Given the description of an element on the screen output the (x, y) to click on. 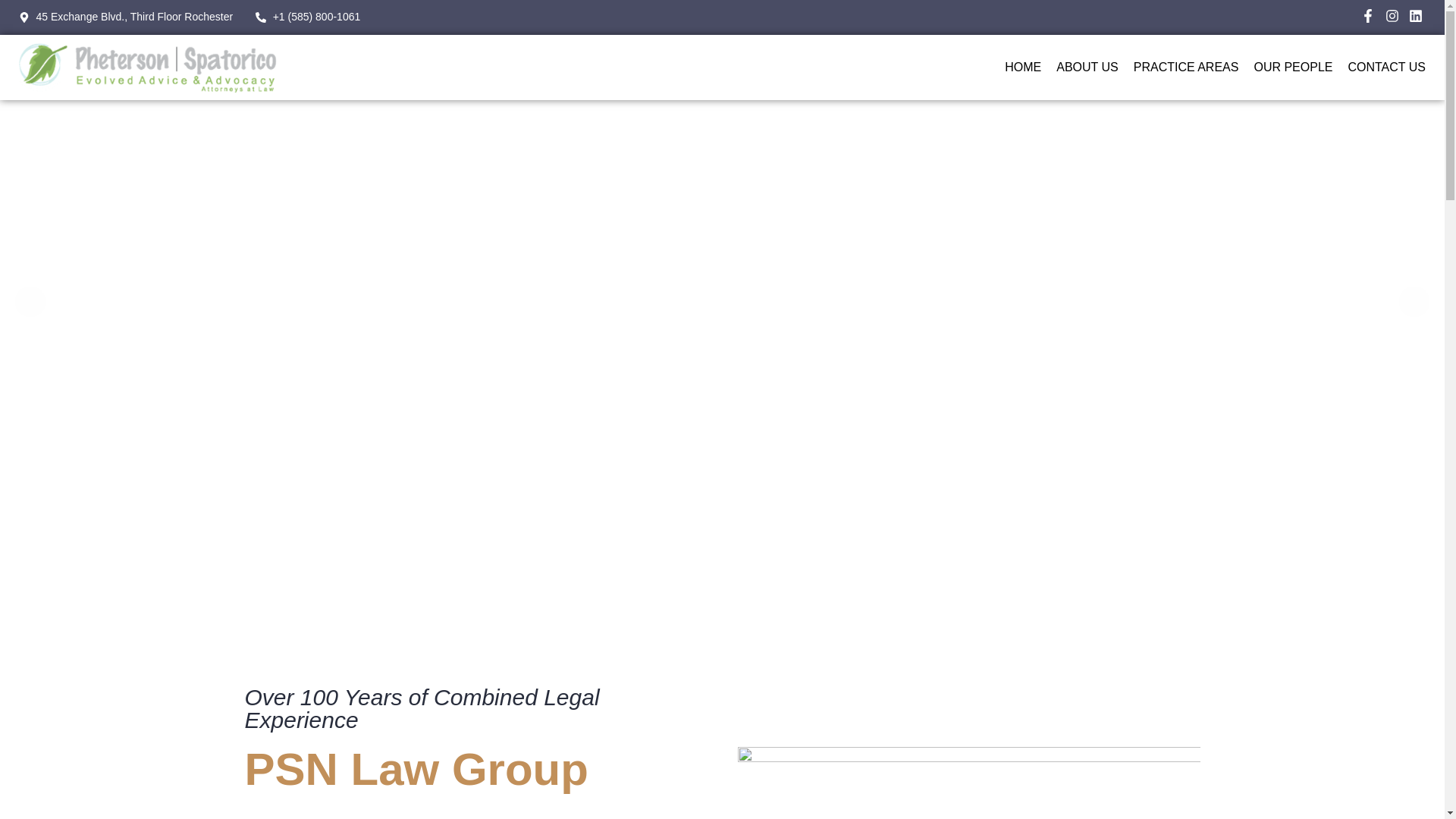
PRACTICE AREAS (1178, 67)
ABOUT US (1079, 67)
OUR PEOPLE (1285, 67)
CONTACT US (1378, 67)
HOME (1015, 67)
